Given the description of an element on the screen output the (x, y) to click on. 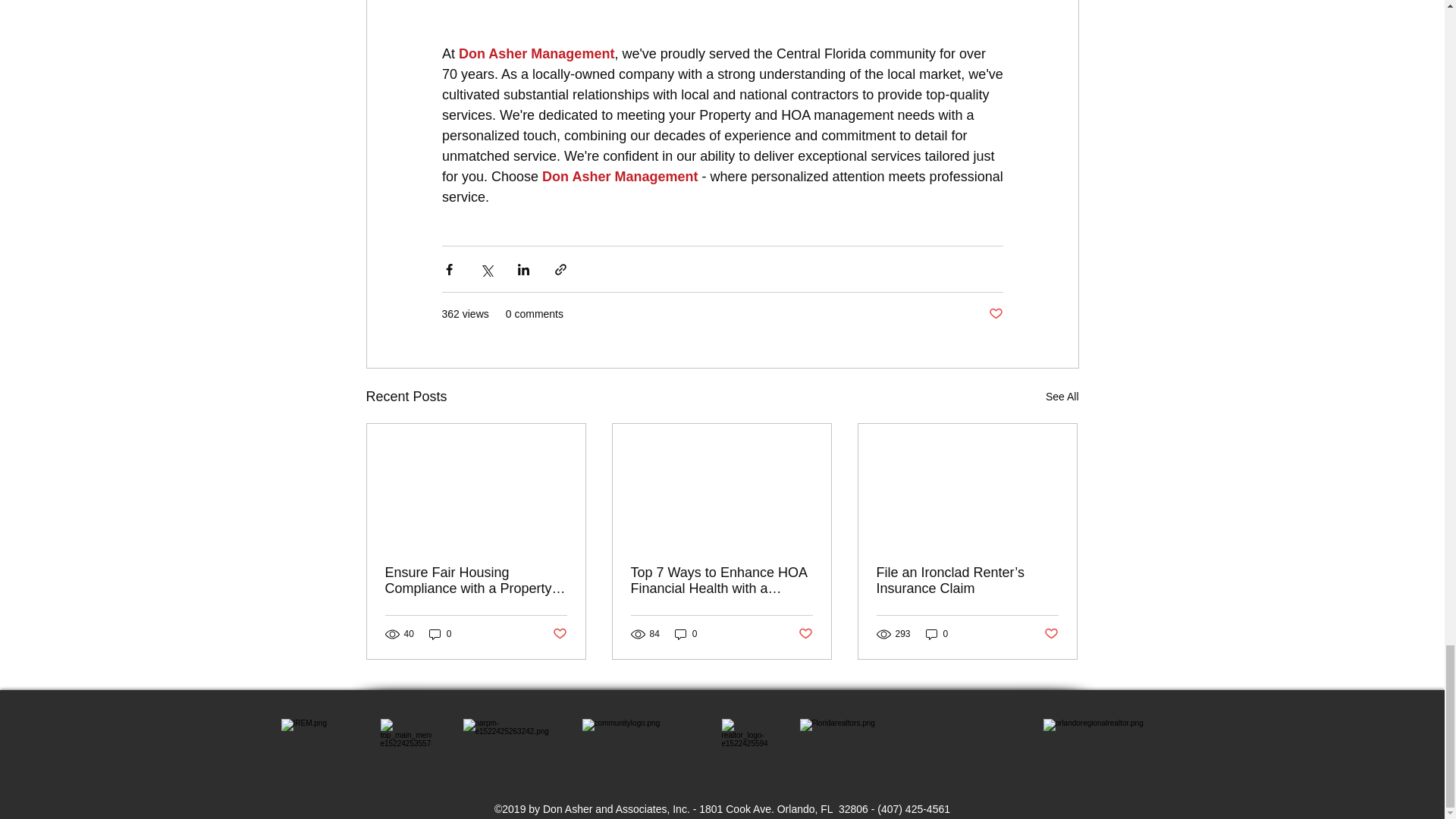
0 (440, 634)
Ensure Fair Housing Compliance with a Property Manager (476, 581)
See All (1061, 396)
Post not marked as liked (995, 314)
Don Asher Management (536, 53)
Don Asher Management (619, 176)
